Given the description of an element on the screen output the (x, y) to click on. 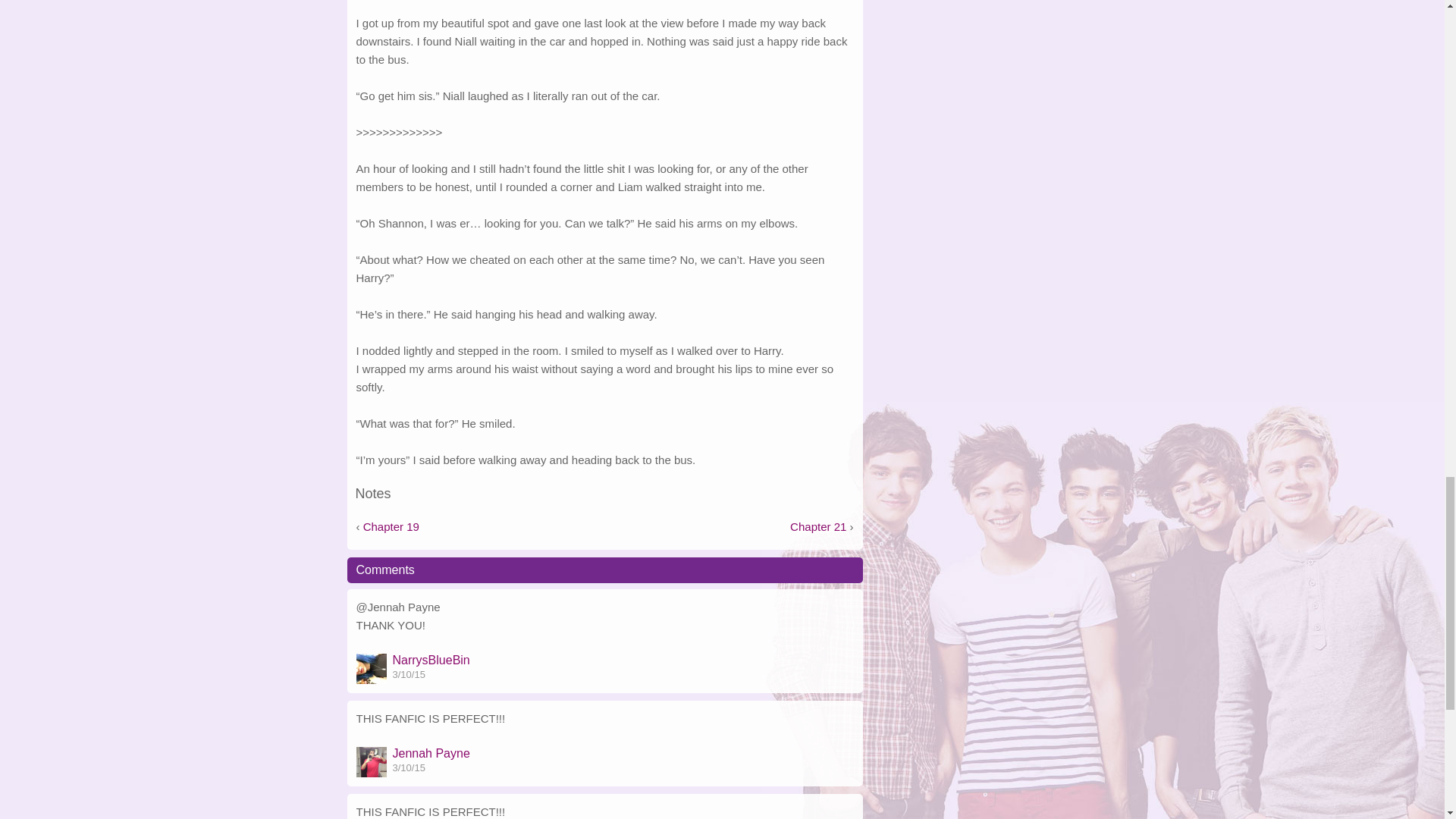
NarrysBlueBin (431, 660)
Chapter 21 (817, 526)
Chapter 19 (390, 526)
Jennah Payne (431, 753)
